Given the description of an element on the screen output the (x, y) to click on. 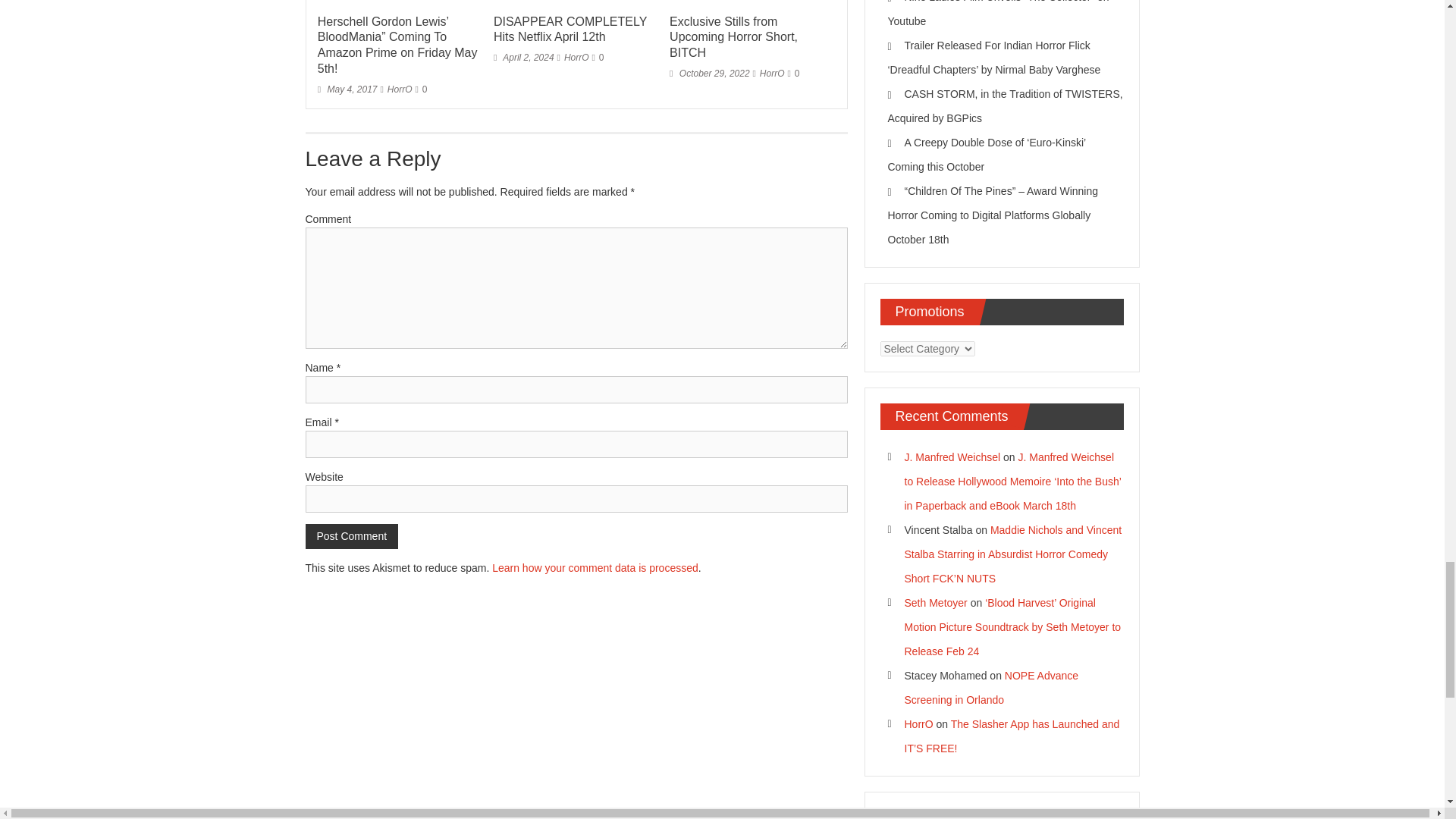
HorrO (772, 72)
9:00 am (347, 89)
11:00 am (709, 72)
HorrO (576, 57)
DISAPPEAR COMPLETELY Hits Netflix April 12th (569, 29)
Post Comment (350, 536)
HorrO (399, 89)
Exclusive Stills from Upcoming Horror Short, BITCH (733, 37)
11:00 am (523, 57)
